Given the description of an element on the screen output the (x, y) to click on. 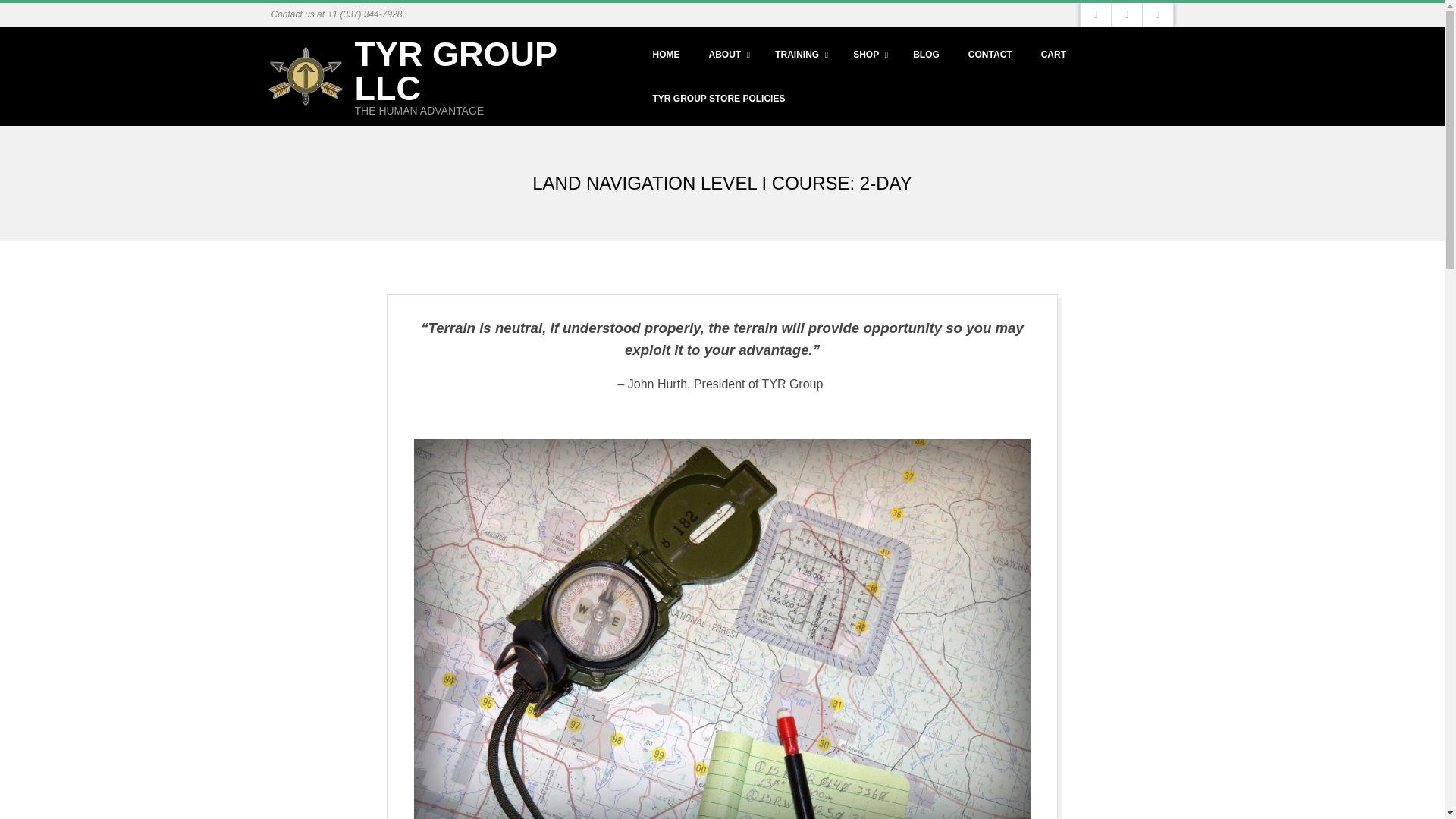
ABOUT (727, 54)
HOME (666, 54)
TYR GROUP STORE POLICIES (718, 98)
CONTACT (990, 54)
CART (1053, 54)
TYR GROUP LLC (456, 71)
SHOP (868, 54)
TRAINING (799, 54)
BLOG (926, 54)
